Given the description of an element on the screen output the (x, y) to click on. 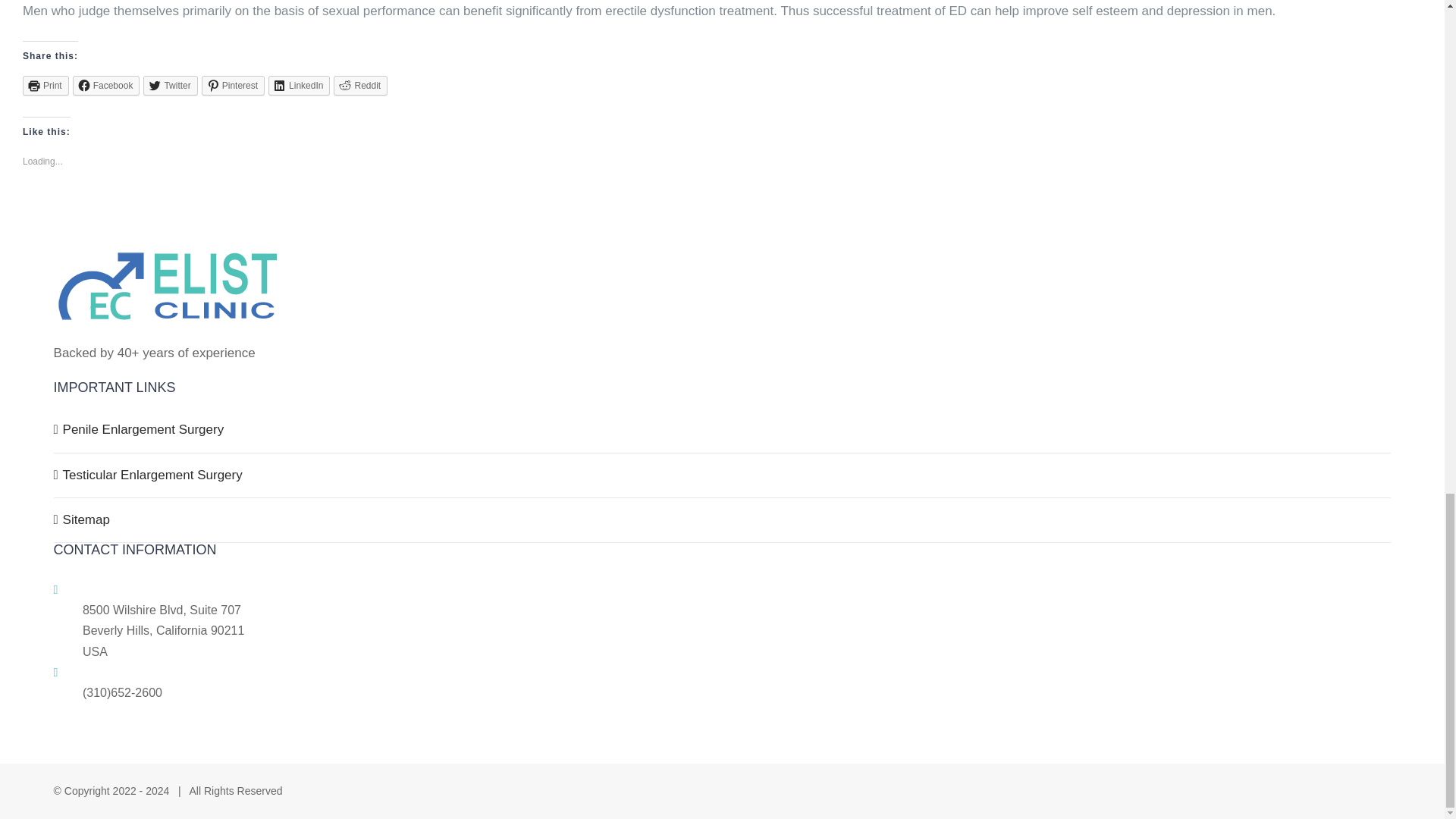
Penile Enlargement Surgery (723, 429)
Testicular Enlargement Surgery (723, 475)
Click to share on LinkedIn (298, 85)
Facebook (105, 85)
Click to share on Pinterest (233, 85)
Reddit (360, 85)
Sitemap (723, 520)
Twitter (169, 85)
Click to print (45, 85)
LinkedIn (298, 85)
